Given the description of an element on the screen output the (x, y) to click on. 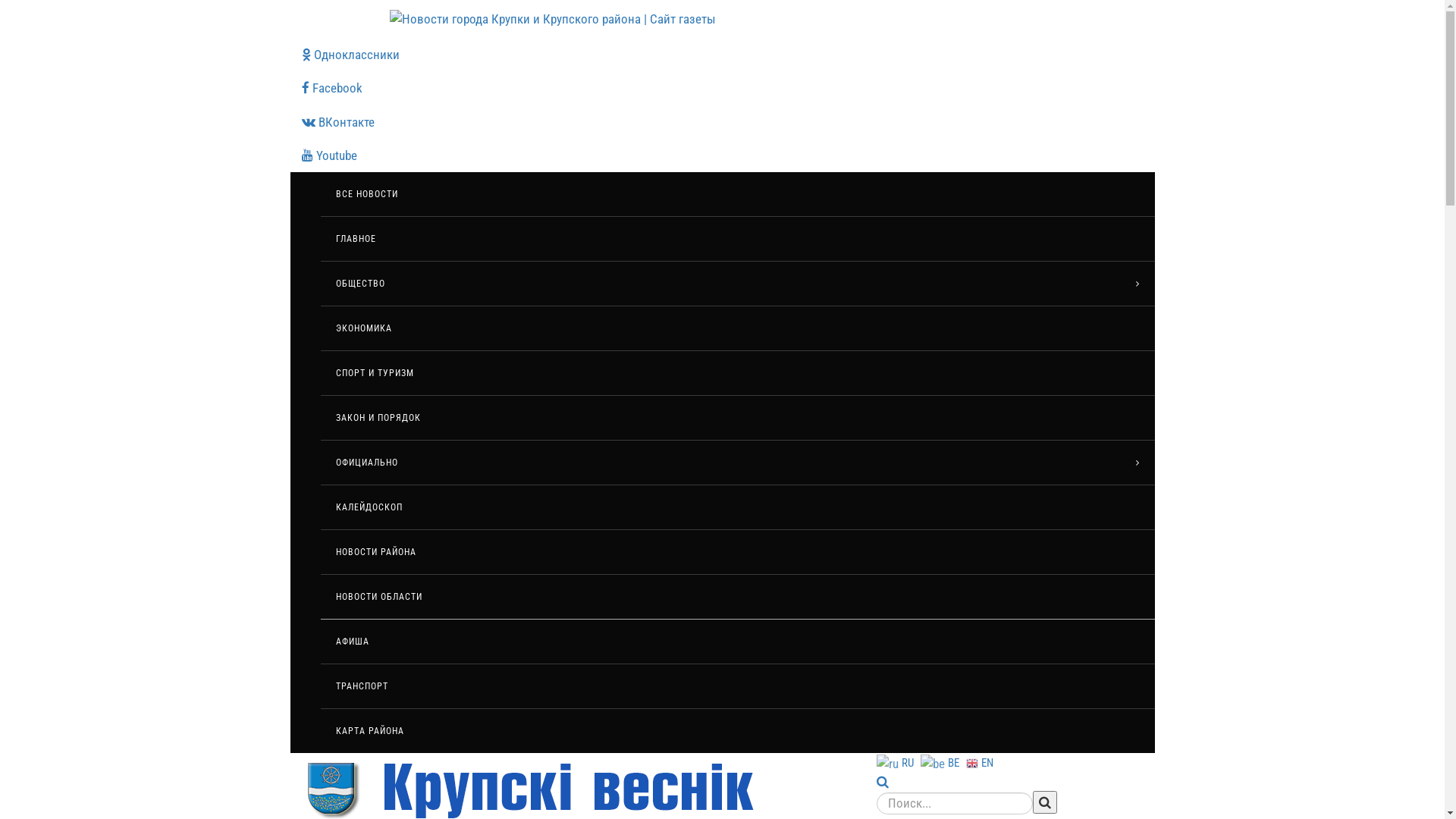
RU Element type: text (896, 761)
Facebook Element type: text (721, 87)
BE Element type: text (941, 761)
Youtube Element type: text (721, 155)
EN Element type: text (981, 761)
